Given the description of an element on the screen output the (x, y) to click on. 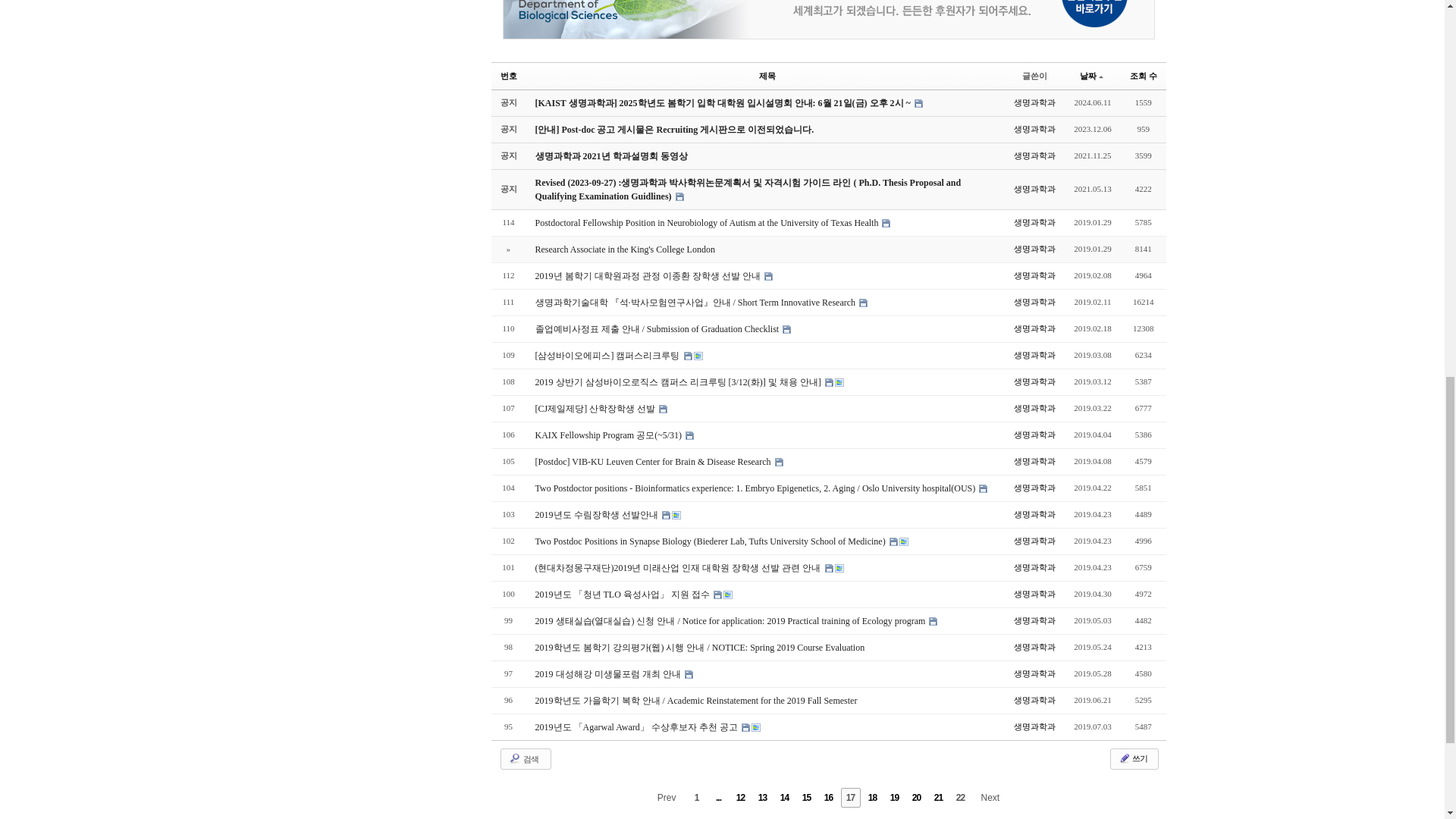
01:35 (1092, 248)
08:20 (1092, 328)
Image (839, 382)
08:23 (1092, 302)
06:32 (1092, 275)
file (885, 223)
00:37 (1092, 381)
file (918, 103)
00:44 (1092, 222)
file (688, 356)
file (662, 408)
file (679, 196)
07:59 (1092, 355)
file (786, 329)
file (863, 302)
